Given the description of an element on the screen output the (x, y) to click on. 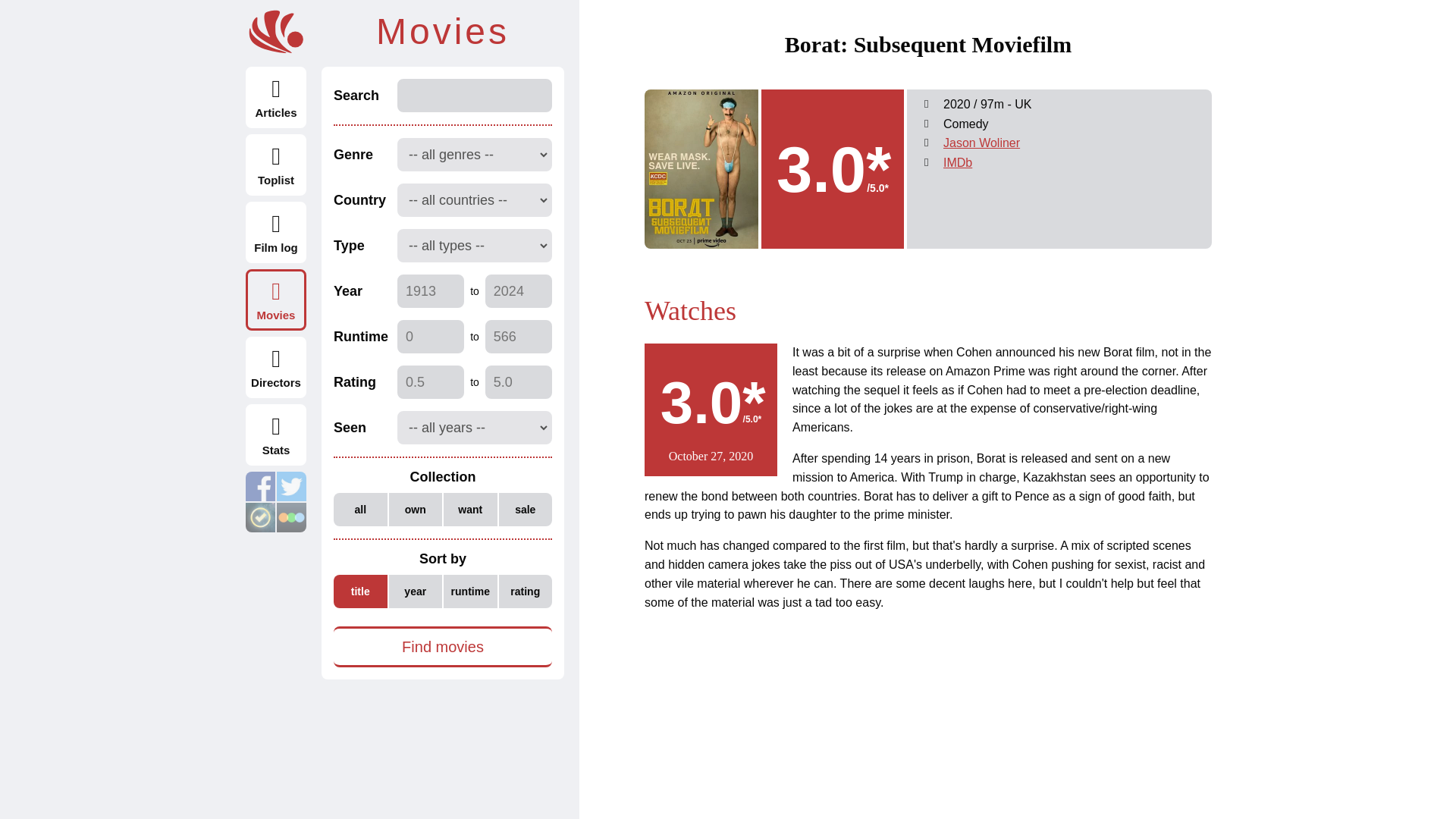
Toplist (275, 164)
Jason Woliner (981, 142)
onderhond.com (275, 31)
Find movies (442, 646)
Articles (275, 96)
Stats (275, 435)
Movies (275, 299)
Directors (275, 367)
Film log (275, 231)
IMDb (957, 162)
